Given the description of an element on the screen output the (x, y) to click on. 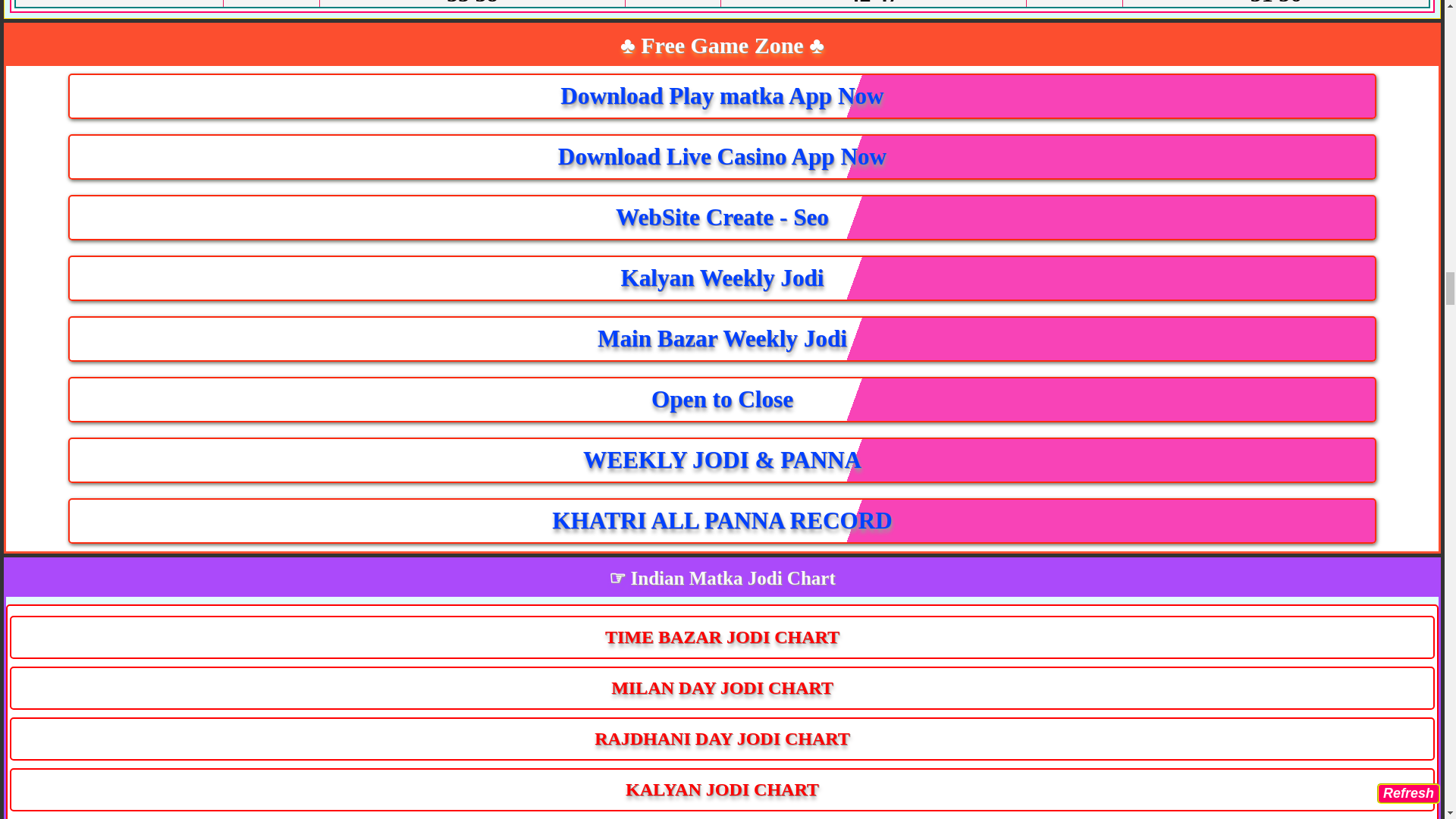
MILAN DAY JODI CHART (721, 688)
KALYAN JODI CHART (721, 789)
WebSite Create - Seo (721, 217)
KHATRI ALL PANNA RECORD (721, 520)
Kalyan Weekly Jodi (721, 278)
Open to Close (721, 399)
Download Play matka App Now (721, 95)
Open to Close (721, 399)
Download Play matka App Now (721, 95)
Main Bazar Weekly Jodi (721, 338)
Download Live Casino App Now (721, 156)
WebSite Create - Seo (721, 217)
TIME BAZAR JODI CHART (721, 637)
Kalyan Weekly Jodi (721, 278)
RAJDHANI DAY JODI CHART (721, 738)
